Given the description of an element on the screen output the (x, y) to click on. 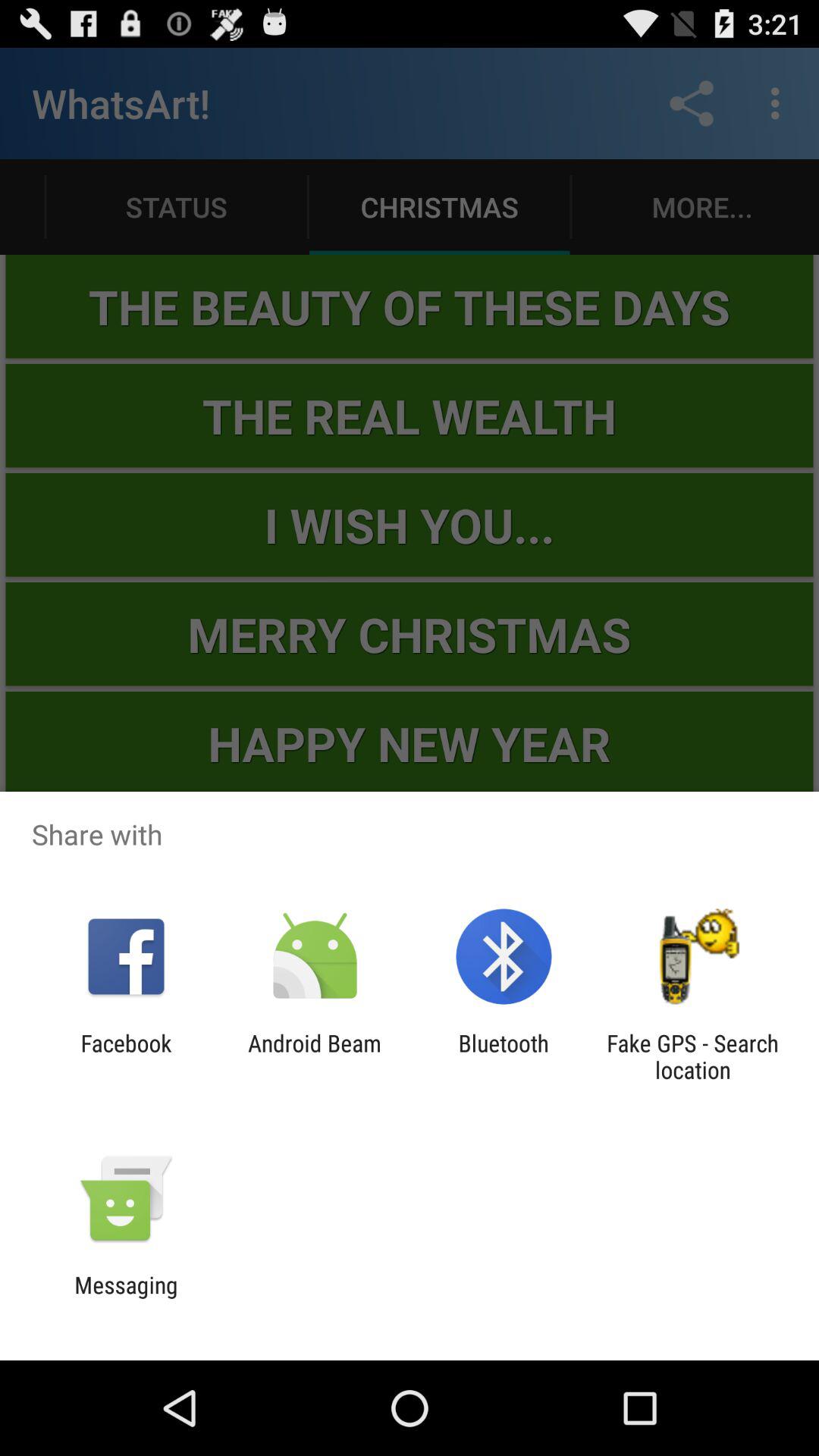
launch icon at the bottom right corner (692, 1056)
